Given the description of an element on the screen output the (x, y) to click on. 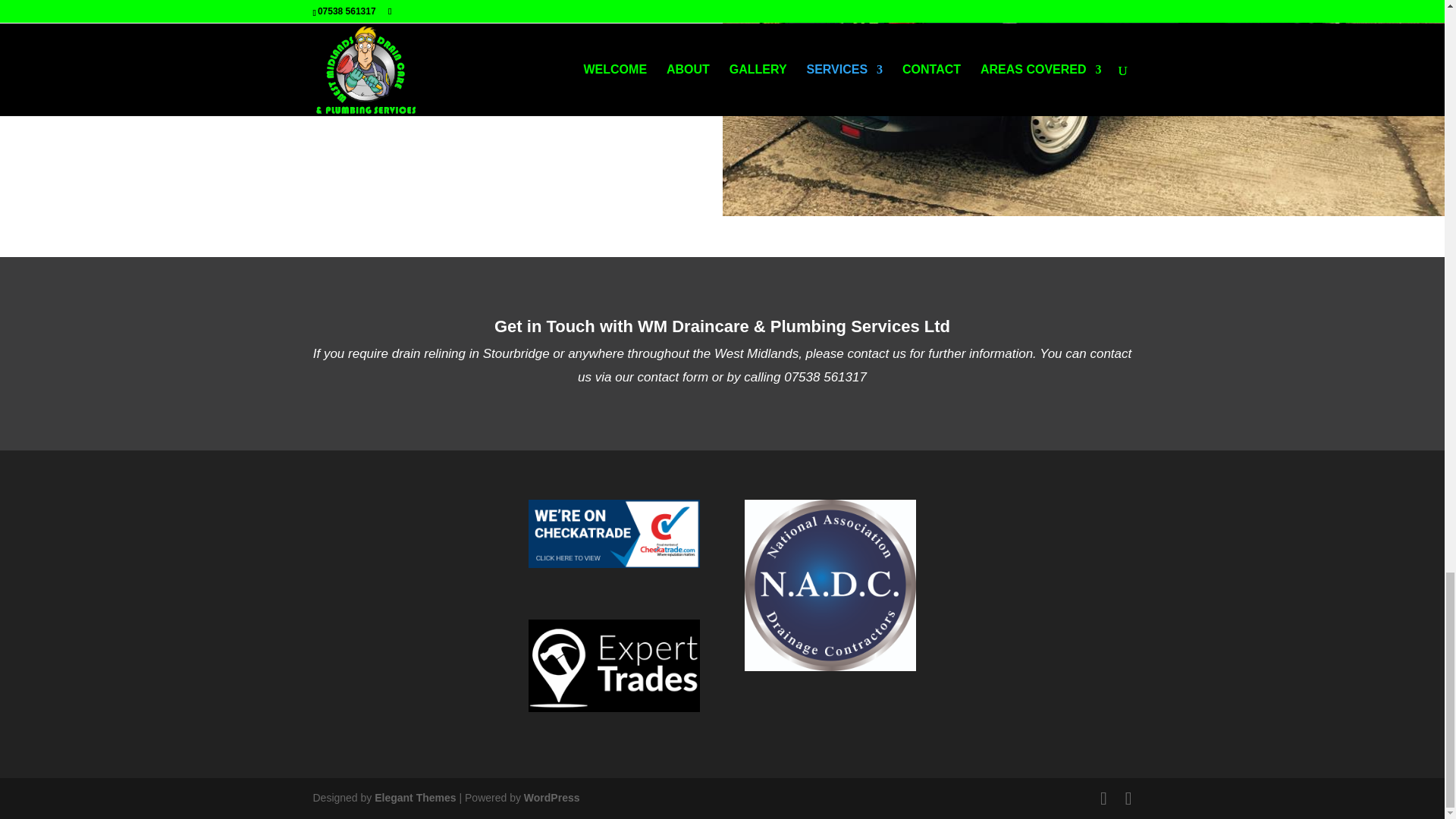
Premium WordPress Themes (414, 797)
